Given the description of an element on the screen output the (x, y) to click on. 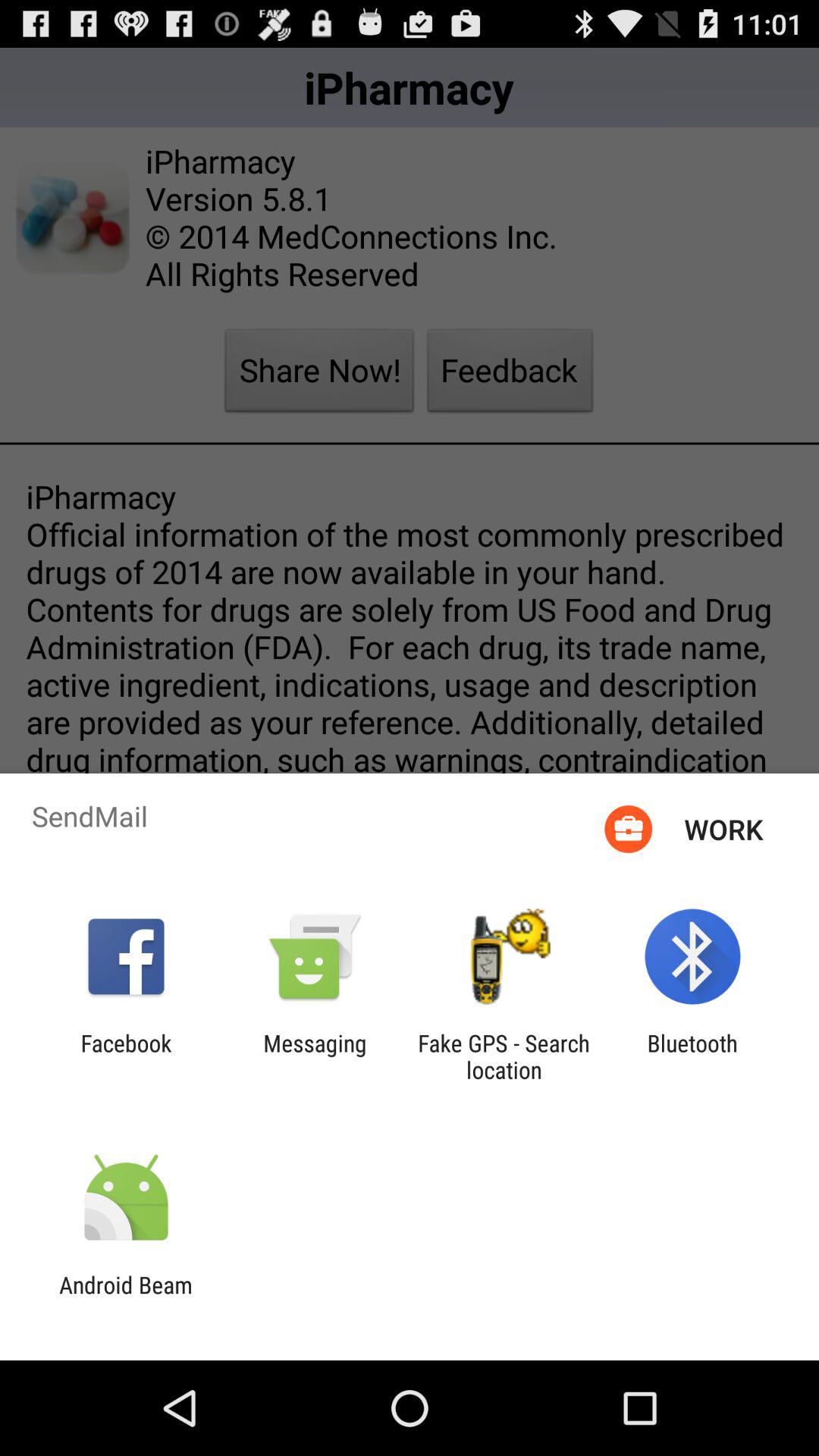
scroll until fake gps search item (503, 1056)
